Given the description of an element on the screen output the (x, y) to click on. 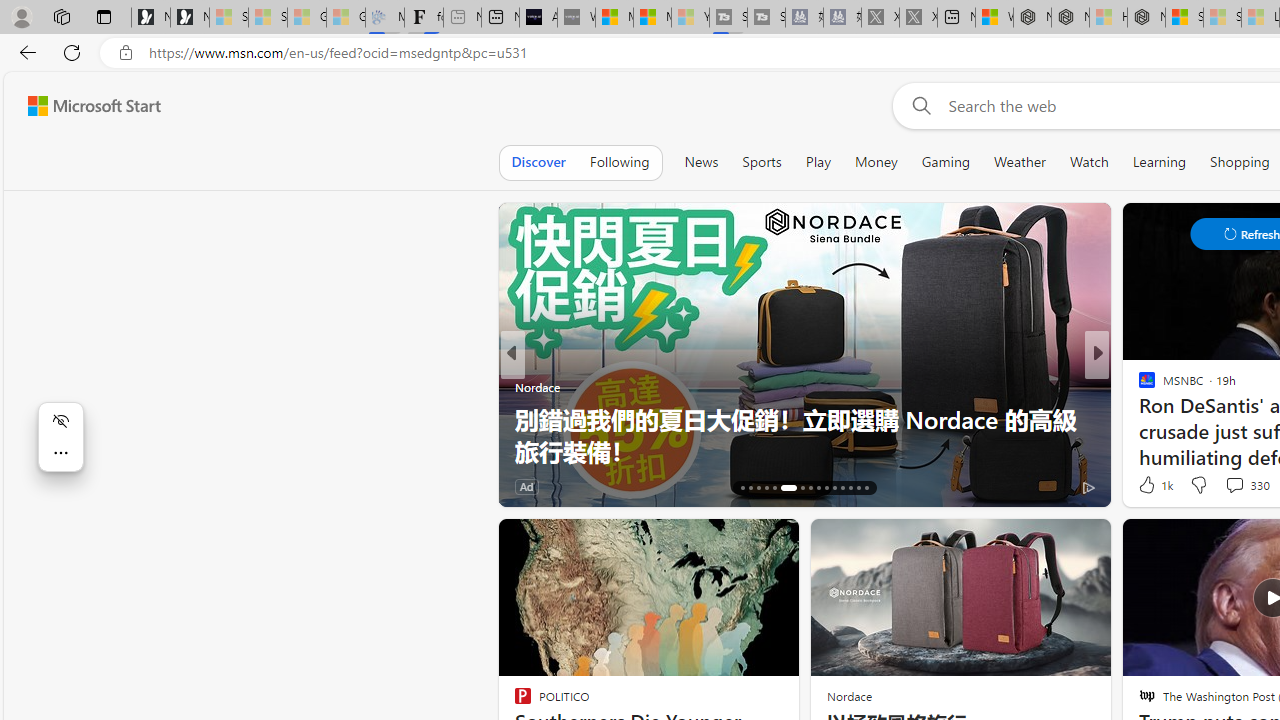
AutomationID: tab-30 (865, 487)
44 Like (1149, 486)
Mini menu on text selection (60, 436)
AutomationID: tab-26 (833, 487)
